Given the description of an element on the screen output the (x, y) to click on. 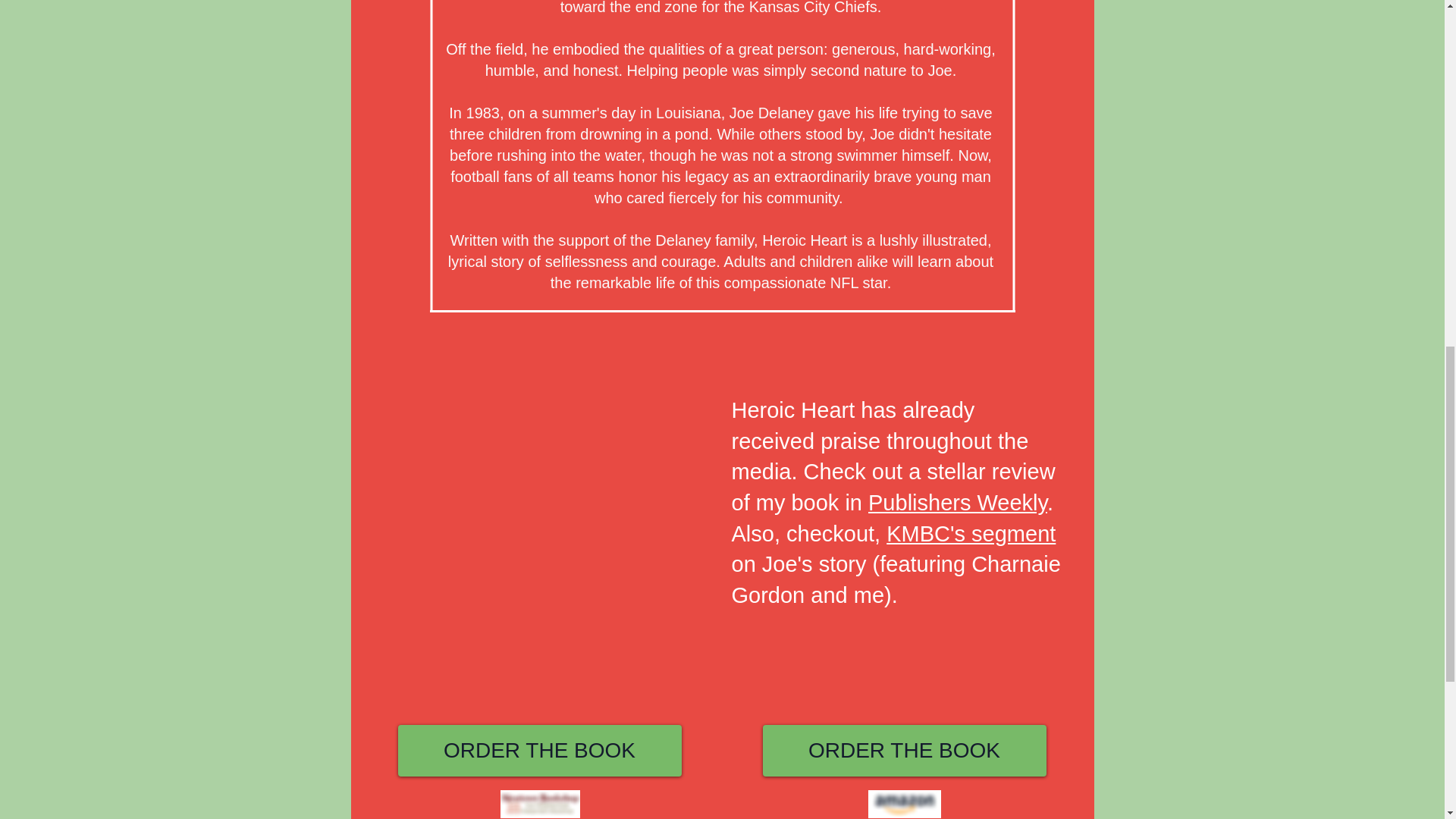
ORDER THE BOOK (904, 750)
ORDER THE BOOK (539, 750)
Publishers Weekly (956, 502)
KMBC's segment (970, 533)
